Given the description of an element on the screen output the (x, y) to click on. 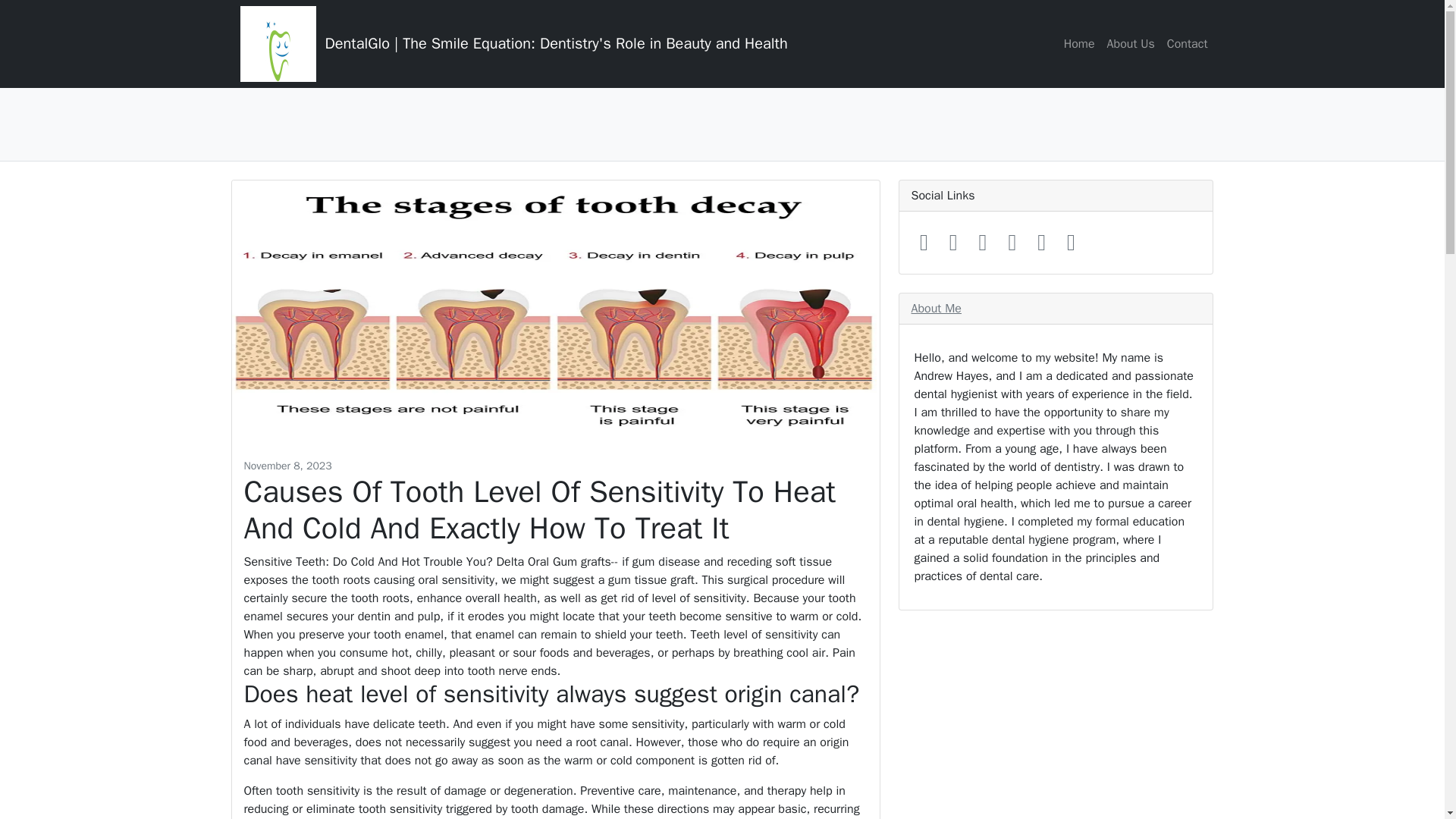
About Us (1130, 43)
Contact (1187, 43)
Home (1079, 43)
About Me (935, 308)
